Given the description of an element on the screen output the (x, y) to click on. 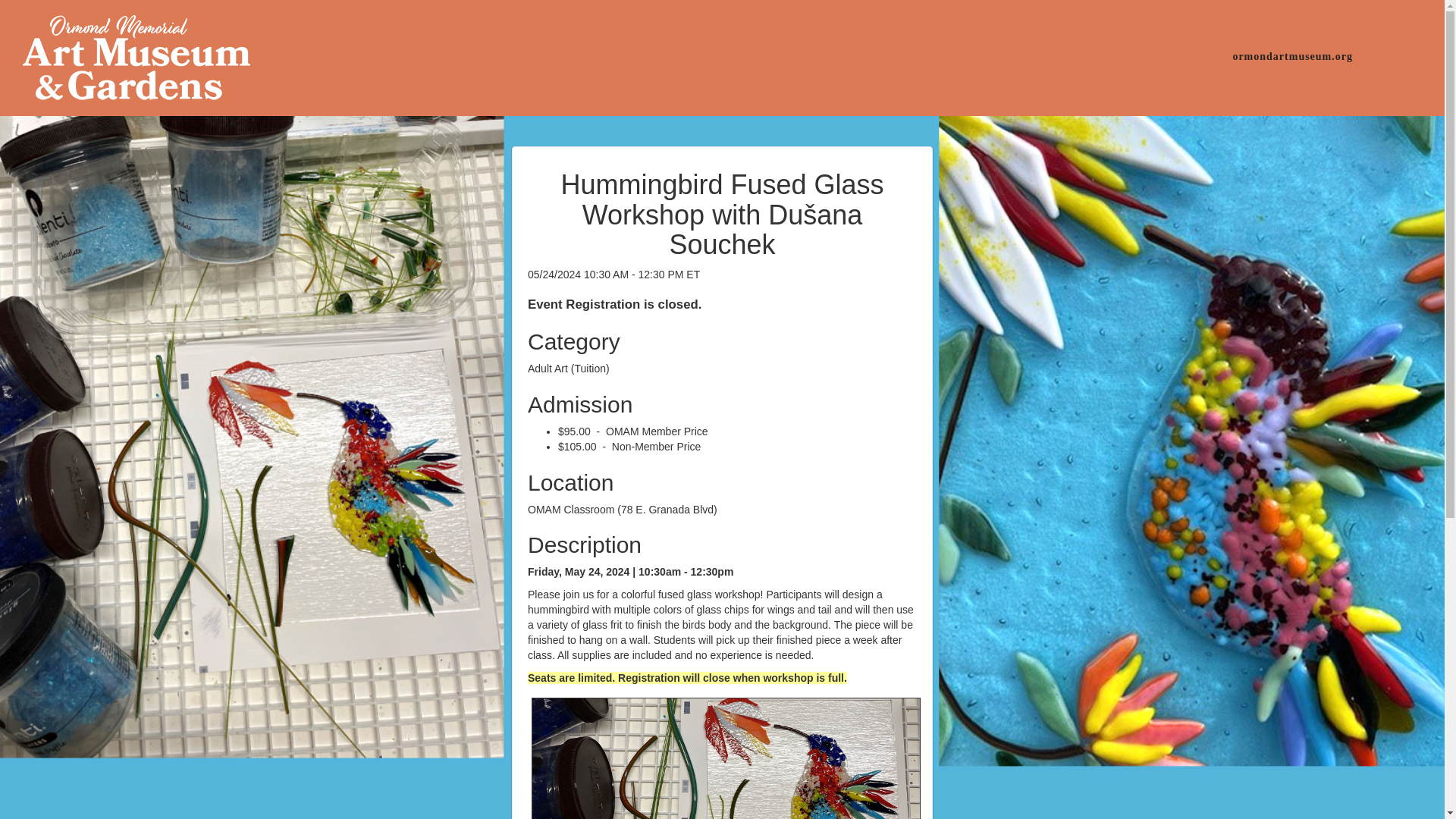
ormondartmuseum.org (1291, 55)
